Given the description of an element on the screen output the (x, y) to click on. 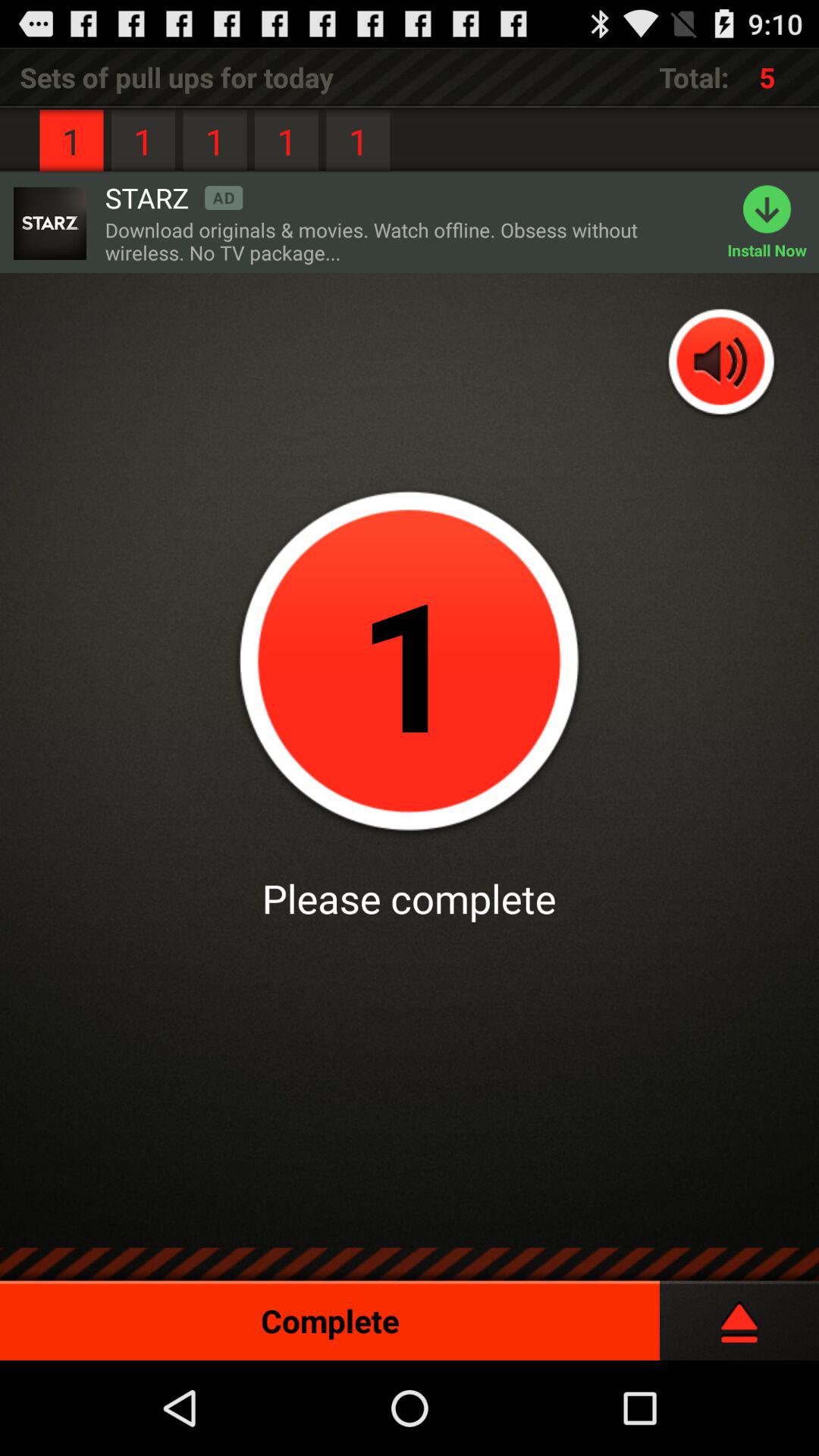
tap the app next to the 1 item (173, 197)
